Given the description of an element on the screen output the (x, y) to click on. 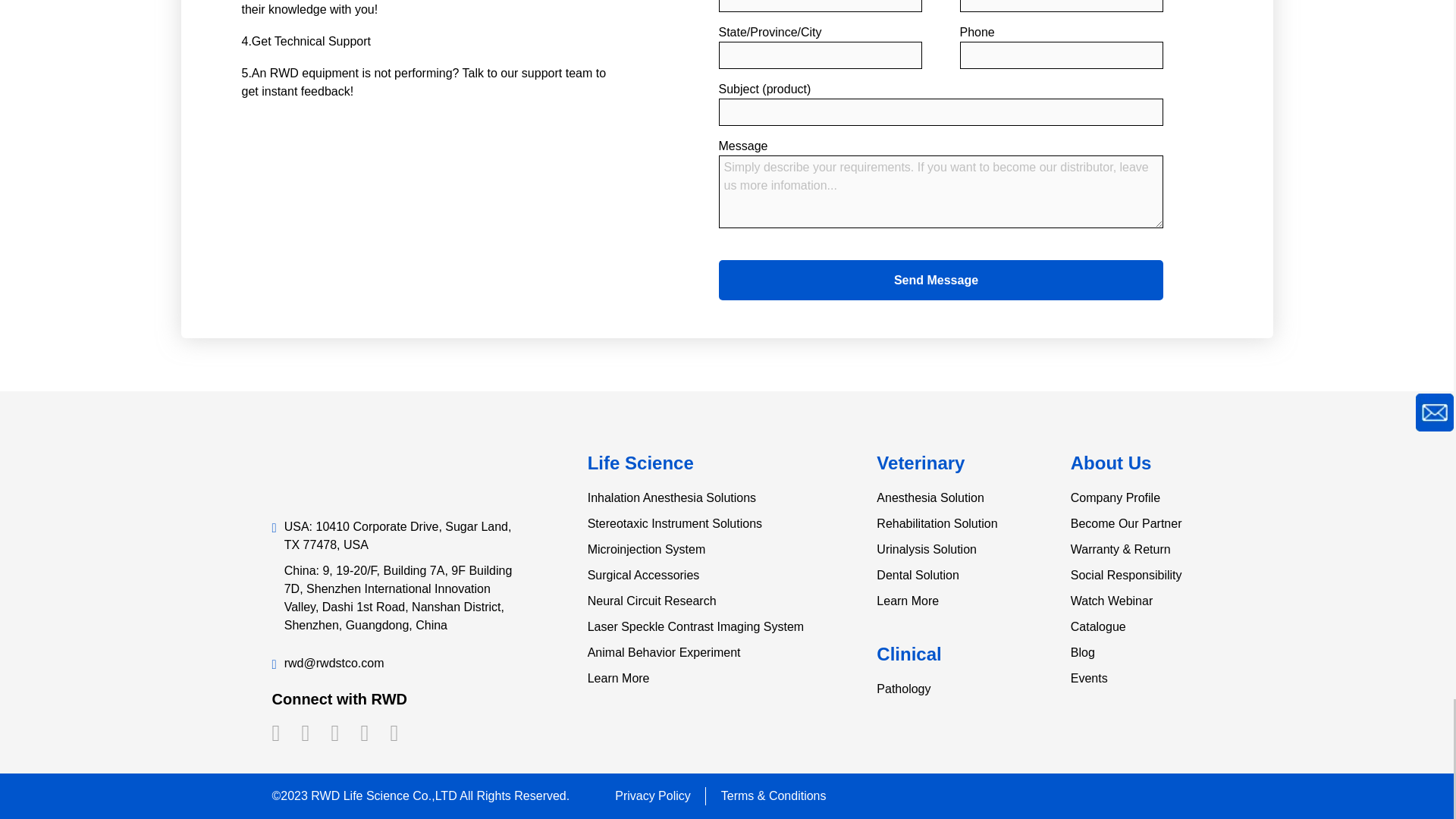
Send Message (941, 280)
